Given the description of an element on the screen output the (x, y) to click on. 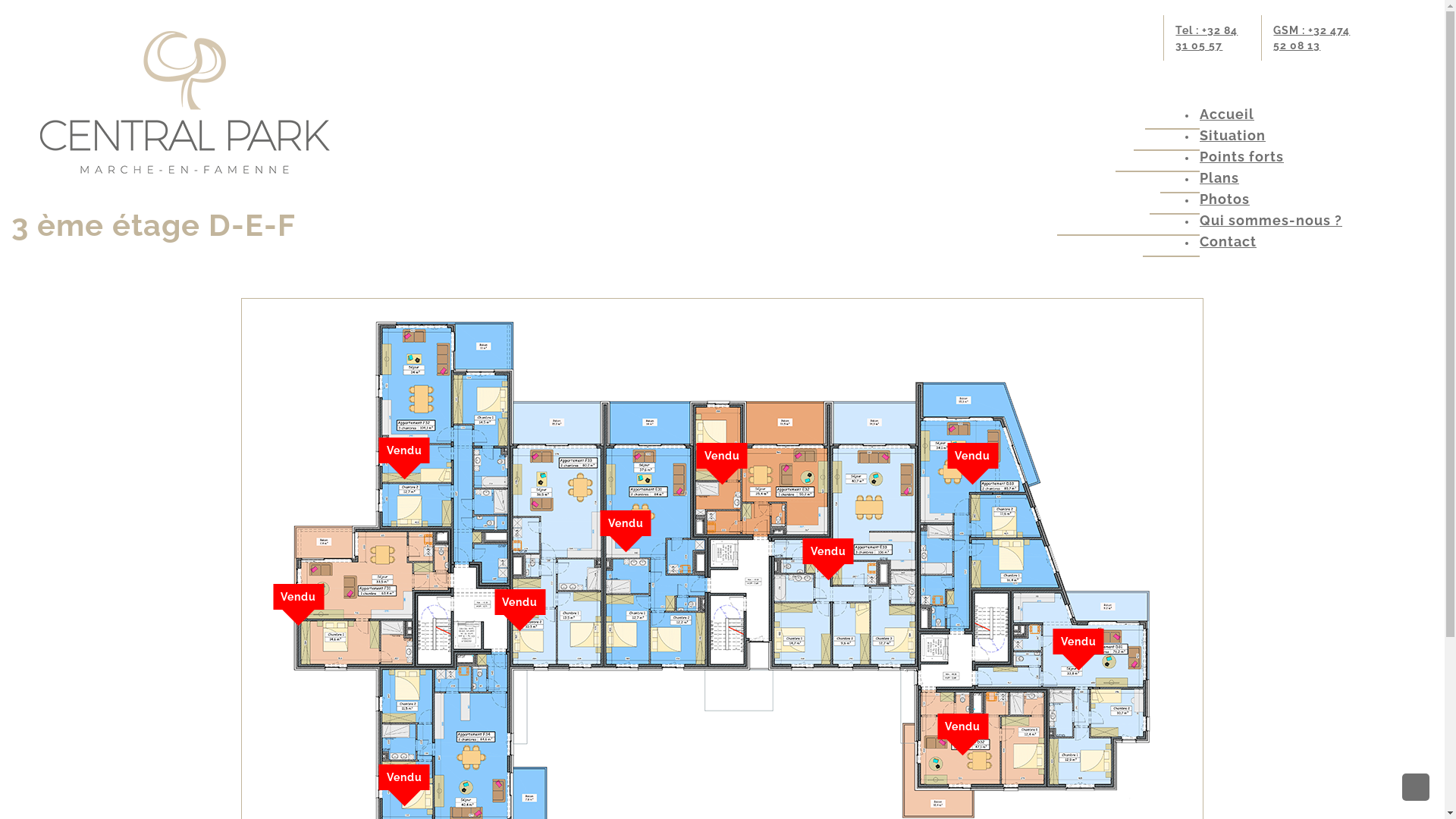
Vendu Element type: text (972, 455)
top Element type: hover (1415, 786)
Tel : +32 84 31 05 57 Element type: text (1212, 37)
Plans Element type: text (1219, 177)
Accueil Element type: text (1226, 113)
Vendu Element type: text (1078, 641)
Contact Element type: text (1227, 241)
Vendu Element type: text (298, 596)
GSM : +32 474 52 08 13 Element type: text (1314, 37)
Vendu Element type: text (404, 777)
Vendu Element type: text (721, 455)
Photos Element type: text (1224, 198)
Vendu Element type: text (519, 602)
Vendu Element type: text (625, 523)
Situation Element type: text (1232, 134)
Qui sommes-nous ? Element type: text (1270, 219)
Points forts Element type: text (1241, 156)
Vendu Element type: text (404, 450)
Vendu Element type: text (962, 726)
Vendu Element type: text (828, 551)
